Given the description of an element on the screen output the (x, y) to click on. 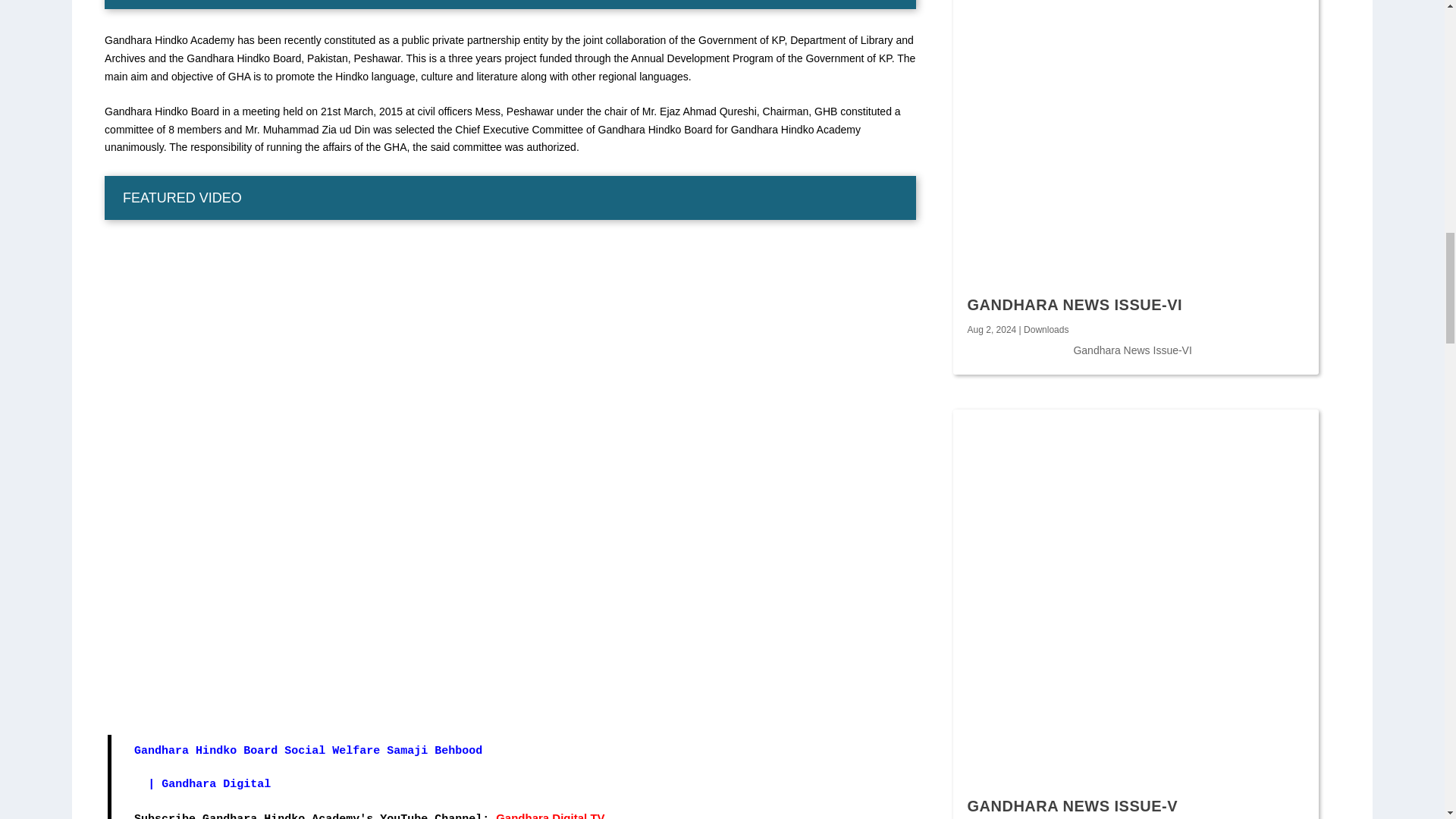
GANDHARA NEWS ISSUE-VI (1075, 304)
GANDHARA NEWS ISSUE-V (1072, 805)
Downloads (1045, 329)
Gandhara Digital TV (550, 815)
